Given the description of an element on the screen output the (x, y) to click on. 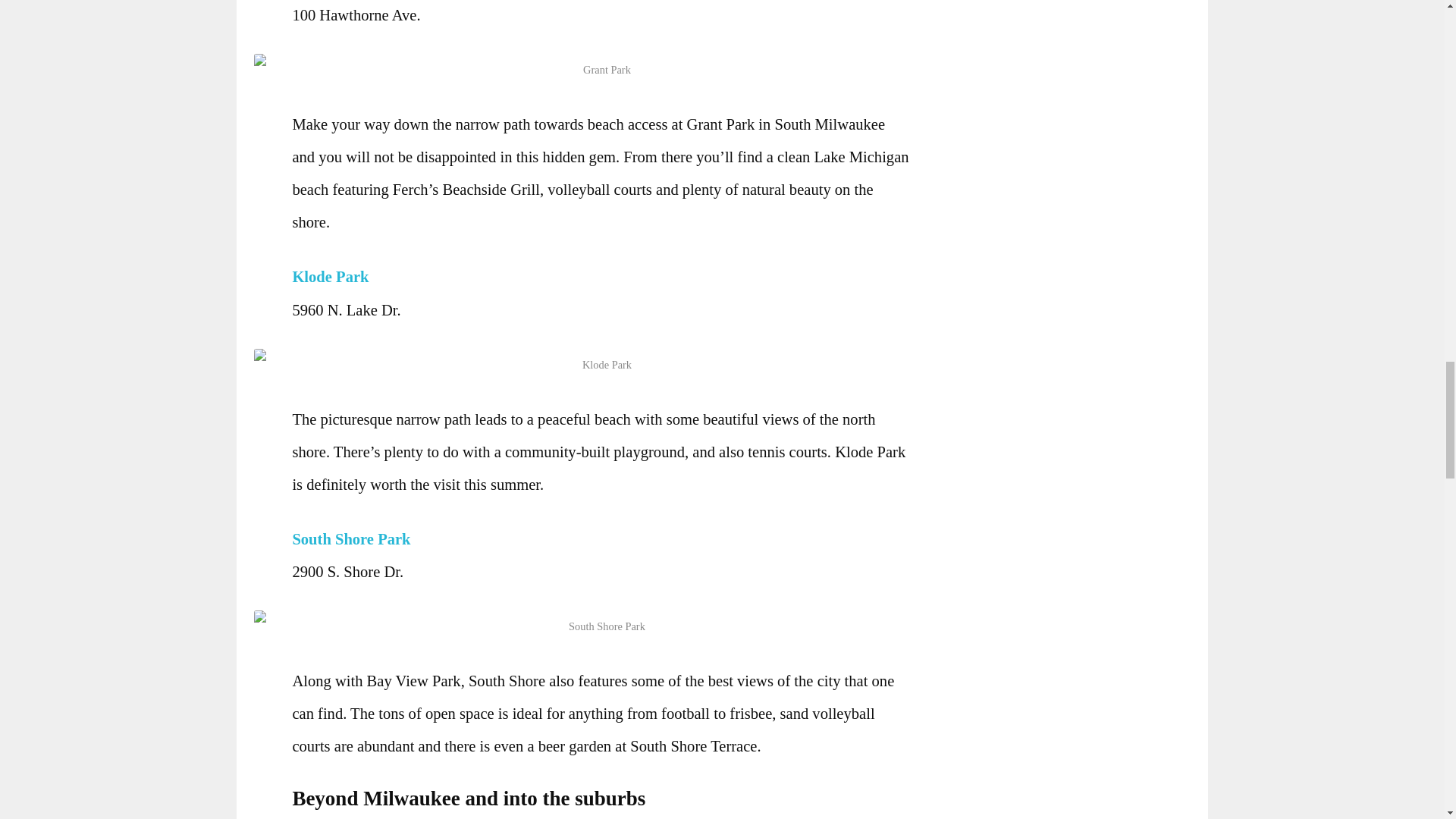
Klode Park (333, 276)
South Shore Park (354, 538)
